Given the description of an element on the screen output the (x, y) to click on. 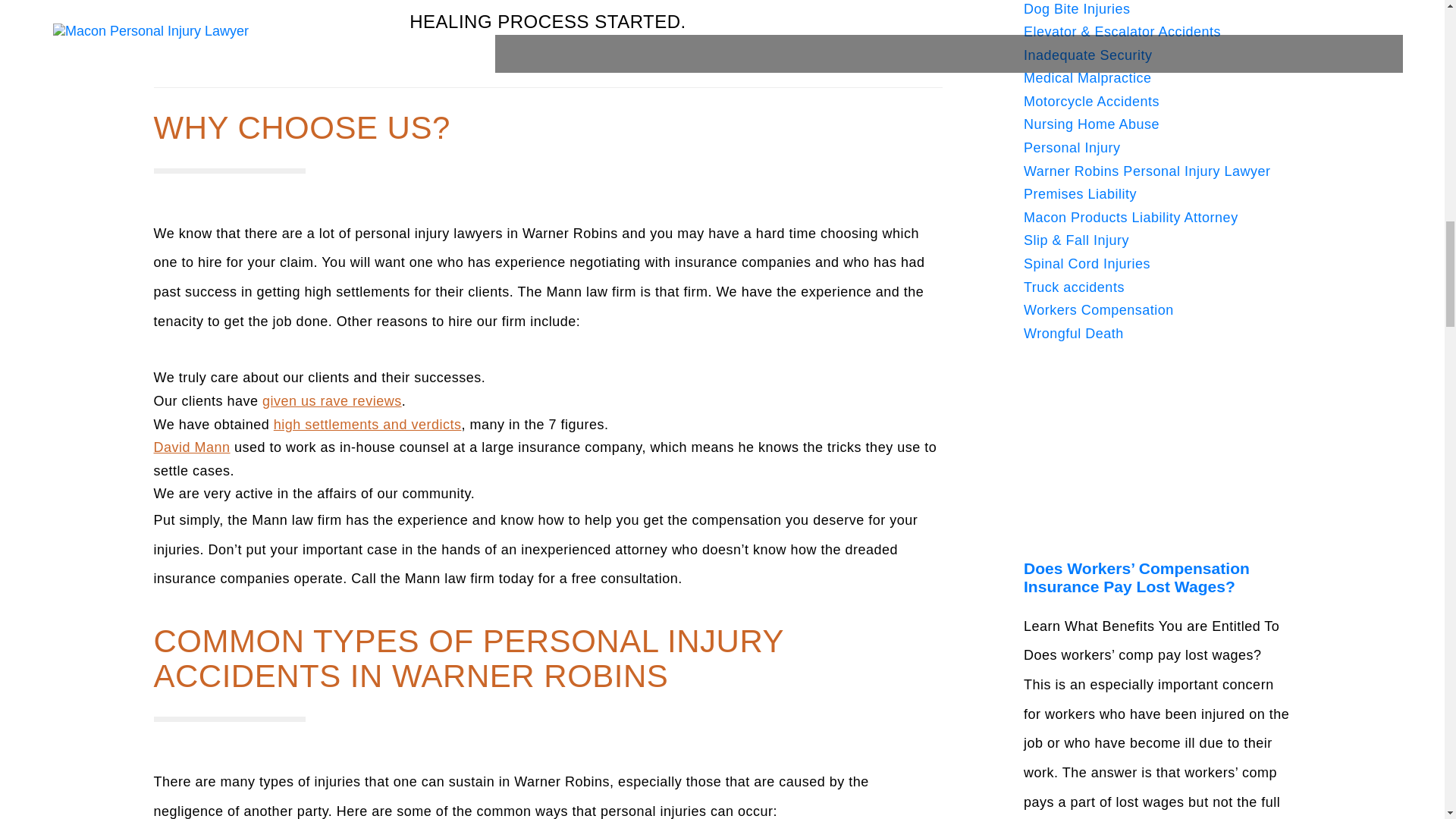
given us rave reviews (331, 400)
David Mann (191, 447)
high settlements and verdicts (367, 424)
